Given the description of an element on the screen output the (x, y) to click on. 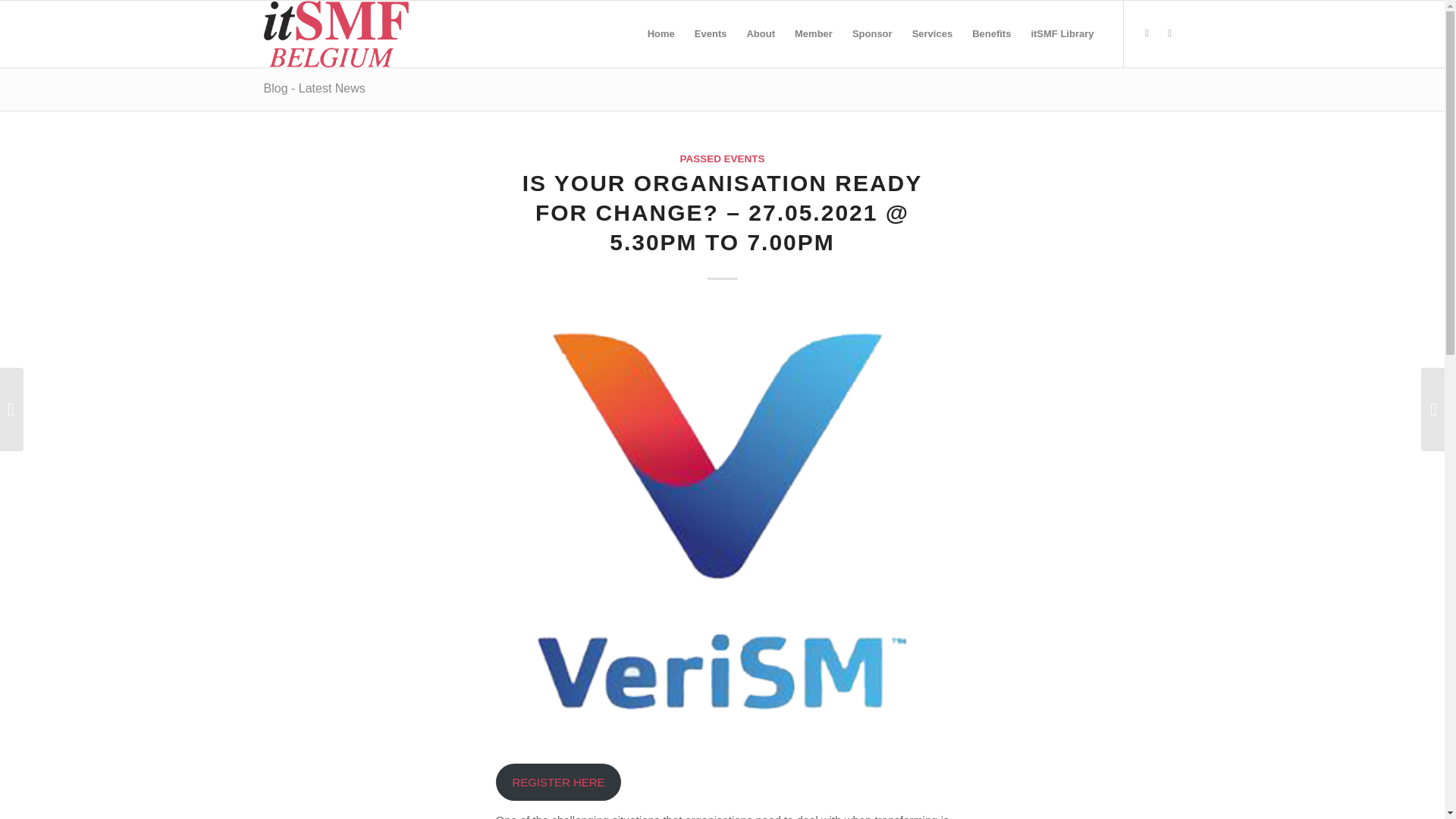
PASSED EVENTS (722, 158)
Blog - Latest News (314, 88)
Services (932, 33)
itSMF Library (1061, 33)
LinkedIn (1169, 33)
Permanent Link: Blog - Latest News (314, 88)
Twitter (1146, 33)
REGISTER HERE (558, 781)
Sponsor (872, 33)
